Given the description of an element on the screen output the (x, y) to click on. 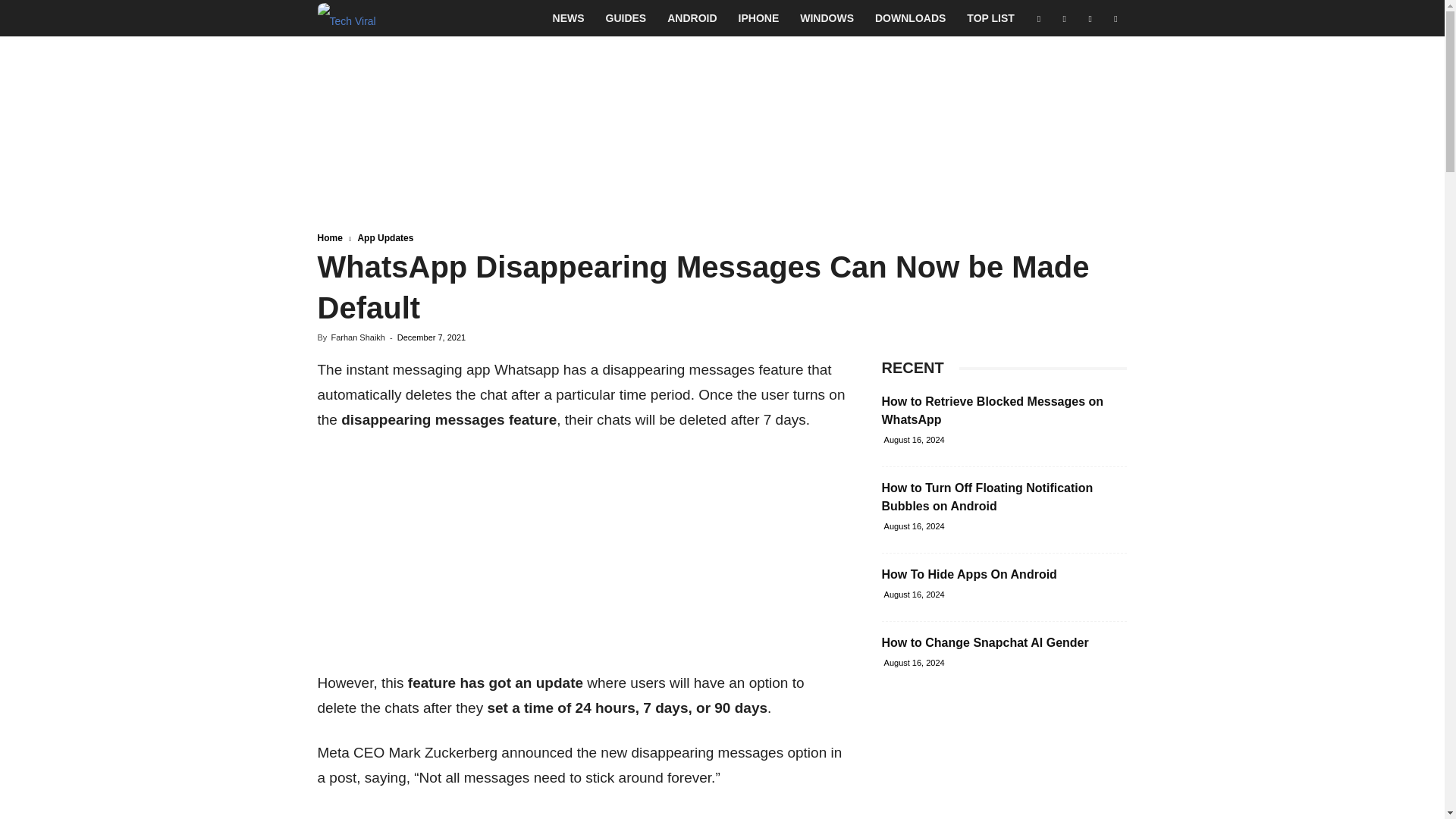
NEWS (568, 18)
TechViral (346, 18)
Tech Viral (346, 18)
ANDROID (691, 18)
Home (329, 237)
IPHONE (759, 18)
DOWNLOADS (910, 18)
GUIDES (626, 18)
WINDOWS (826, 18)
TOP LIST (990, 18)
